Given the description of an element on the screen output the (x, y) to click on. 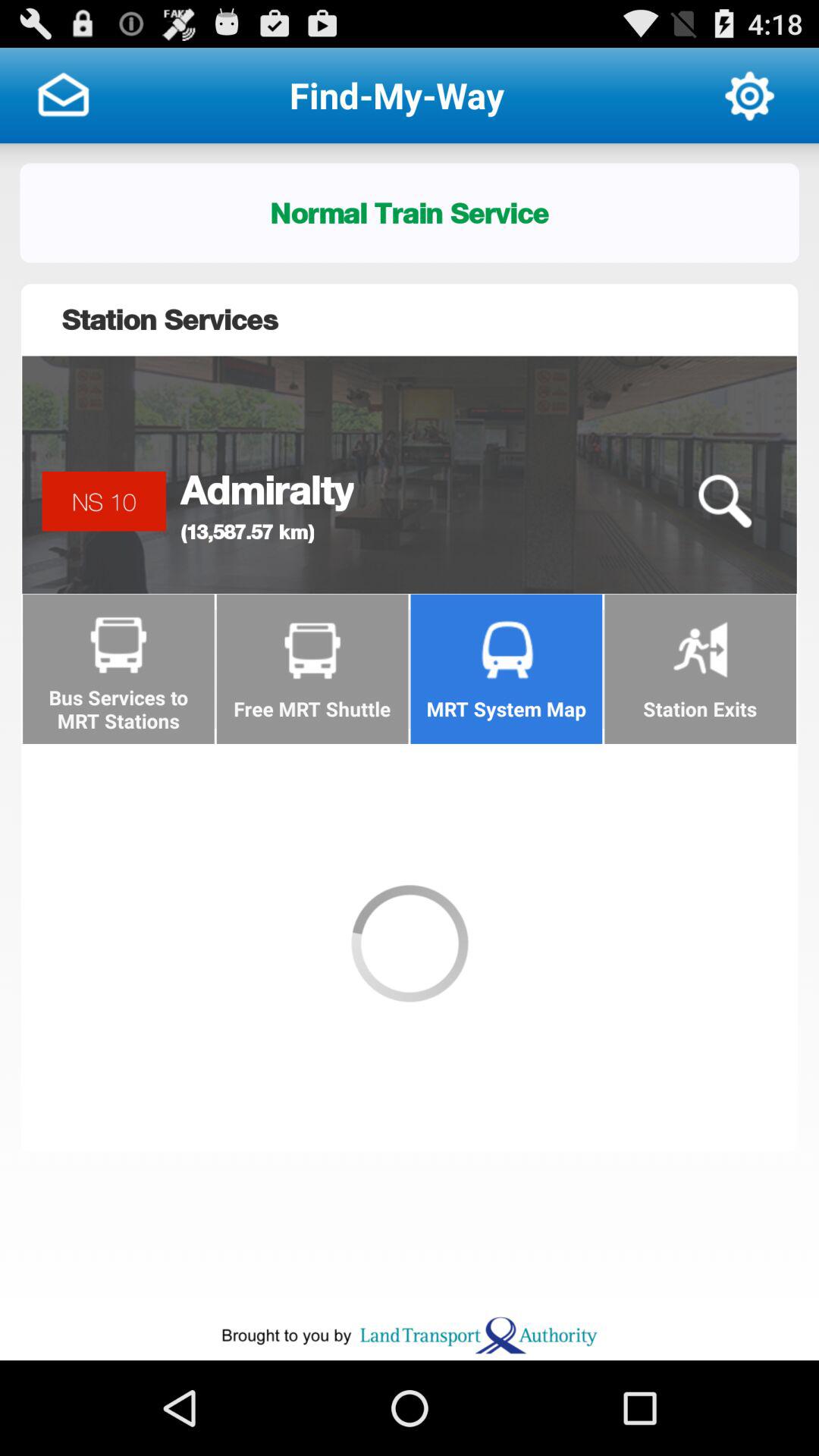
turn on the icon to the right of admiralty (724, 501)
